Given the description of an element on the screen output the (x, y) to click on. 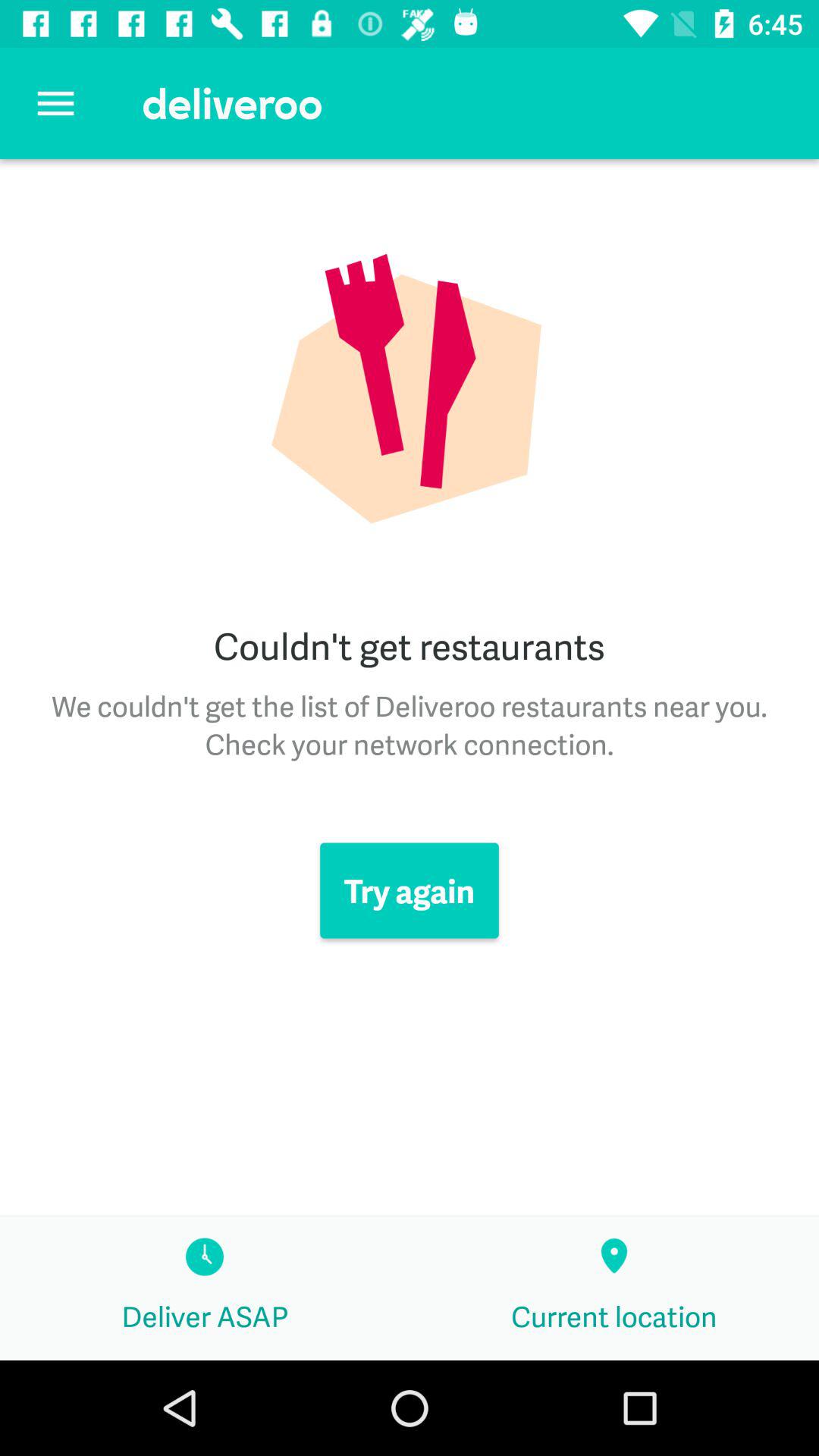
launch item below the try again icon (204, 1288)
